Given the description of an element on the screen output the (x, y) to click on. 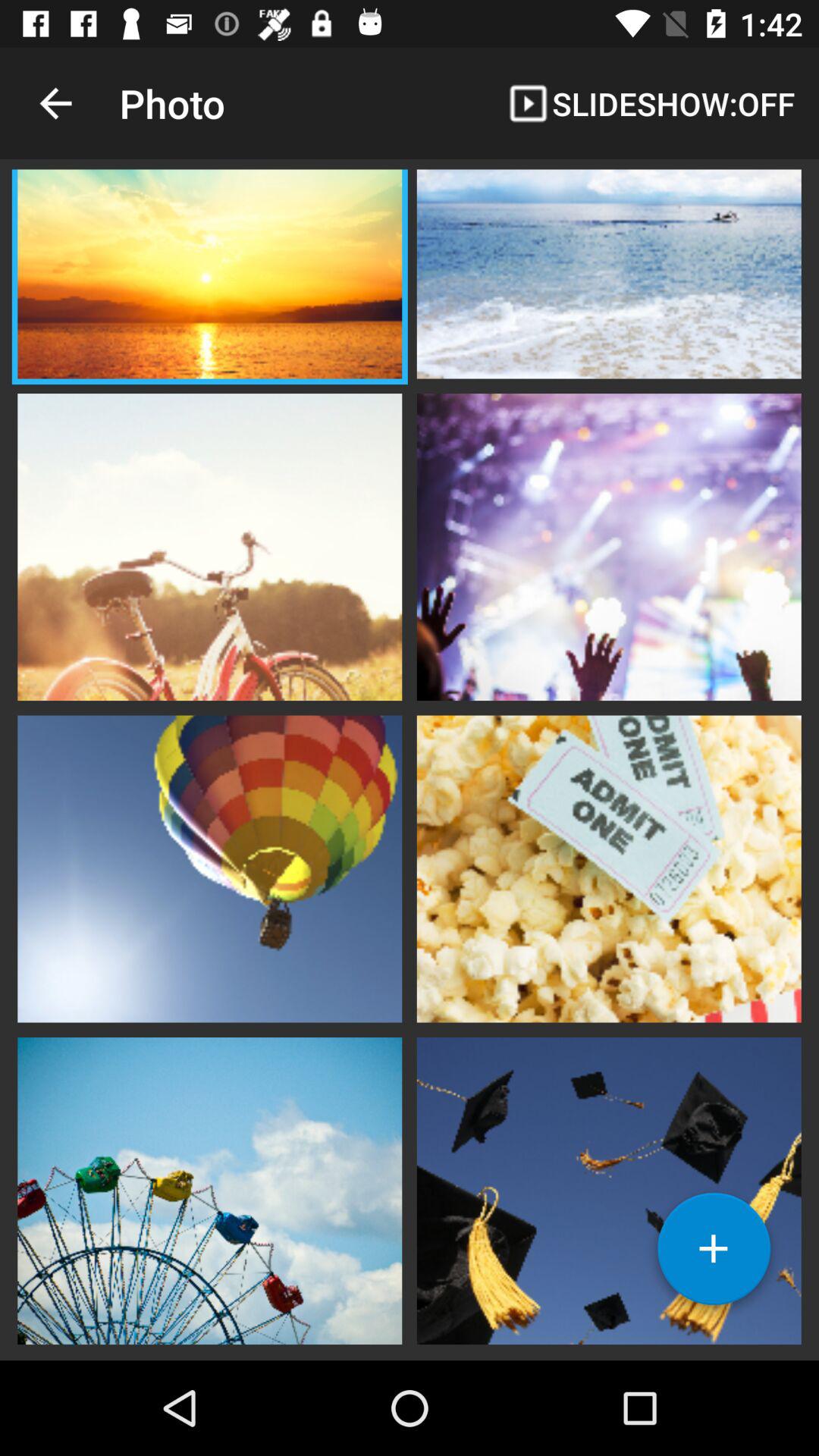
click icon to the left of the photo app (55, 103)
